Given the description of an element on the screen output the (x, y) to click on. 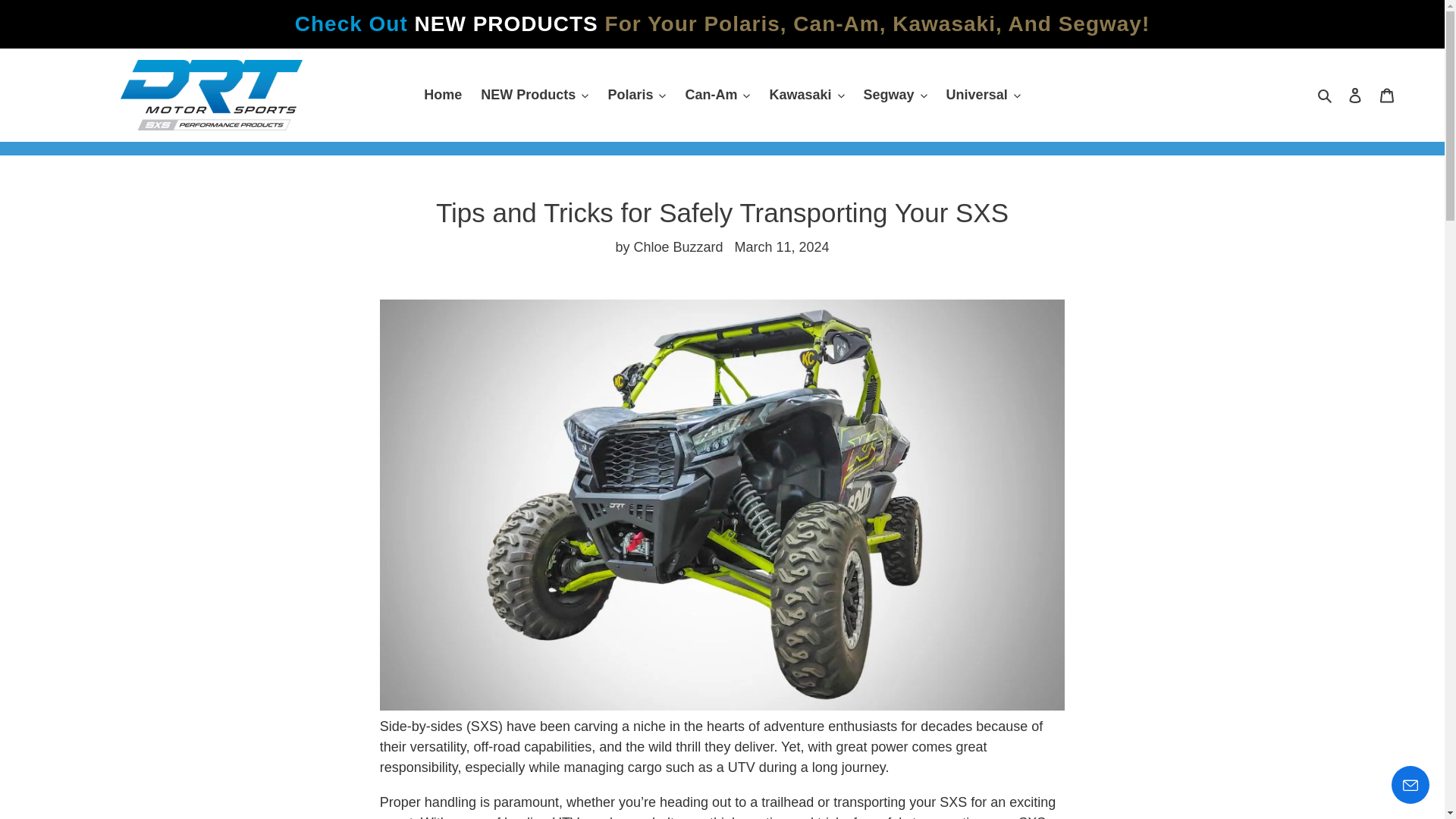
Universal (983, 94)
Can-Am (717, 94)
Segway (895, 94)
Home (442, 94)
NEW Products (534, 94)
Kawasaki (806, 94)
Polaris (635, 94)
